Given the description of an element on the screen output the (x, y) to click on. 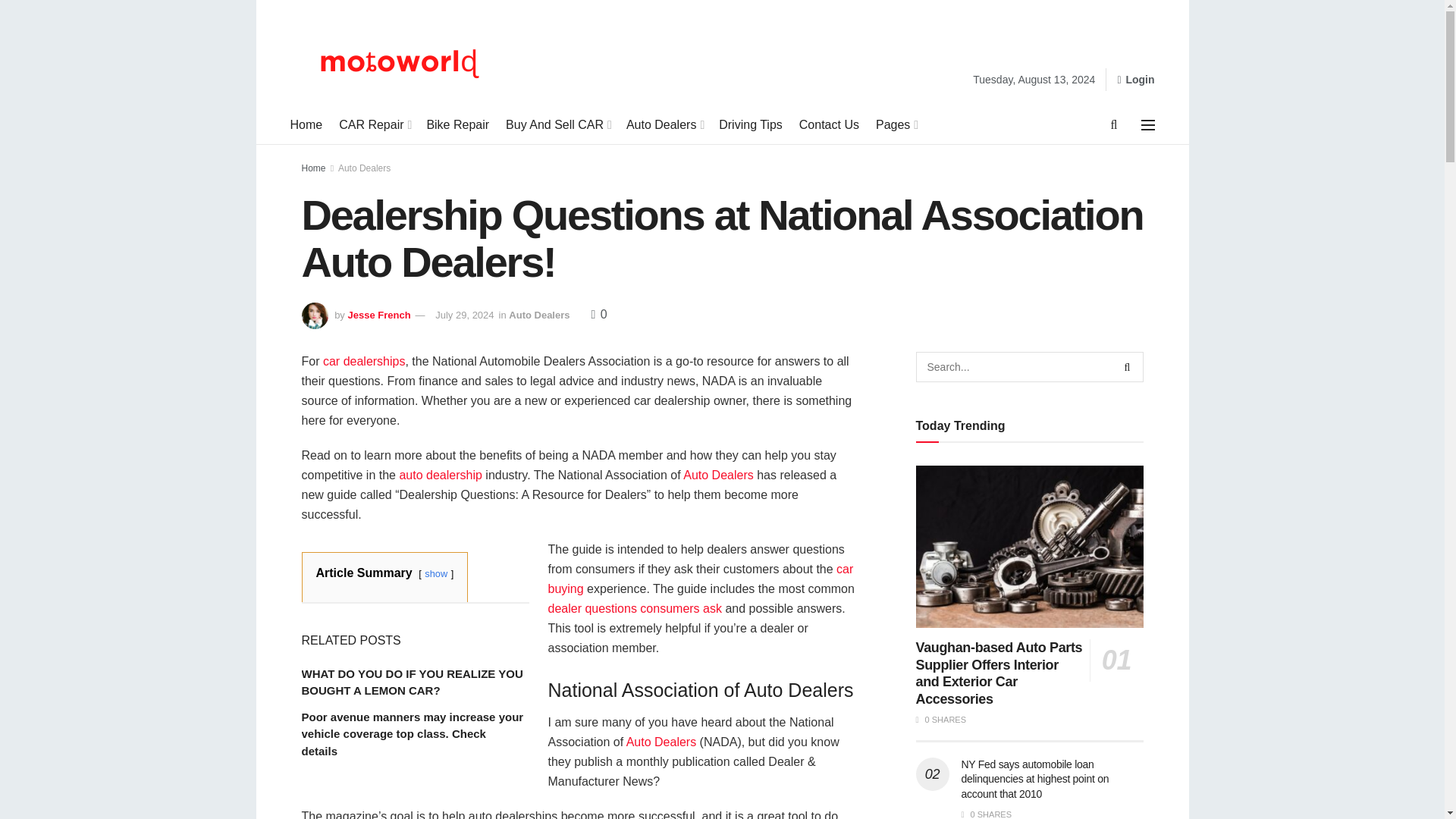
Driving Tips (751, 124)
CAR Repair (374, 124)
Auto Dealers (663, 124)
Login (1135, 79)
Bike Repair (457, 124)
Buy And Sell CAR (557, 124)
Home (305, 124)
Pages (895, 124)
Contact Us (829, 124)
